Given the description of an element on the screen output the (x, y) to click on. 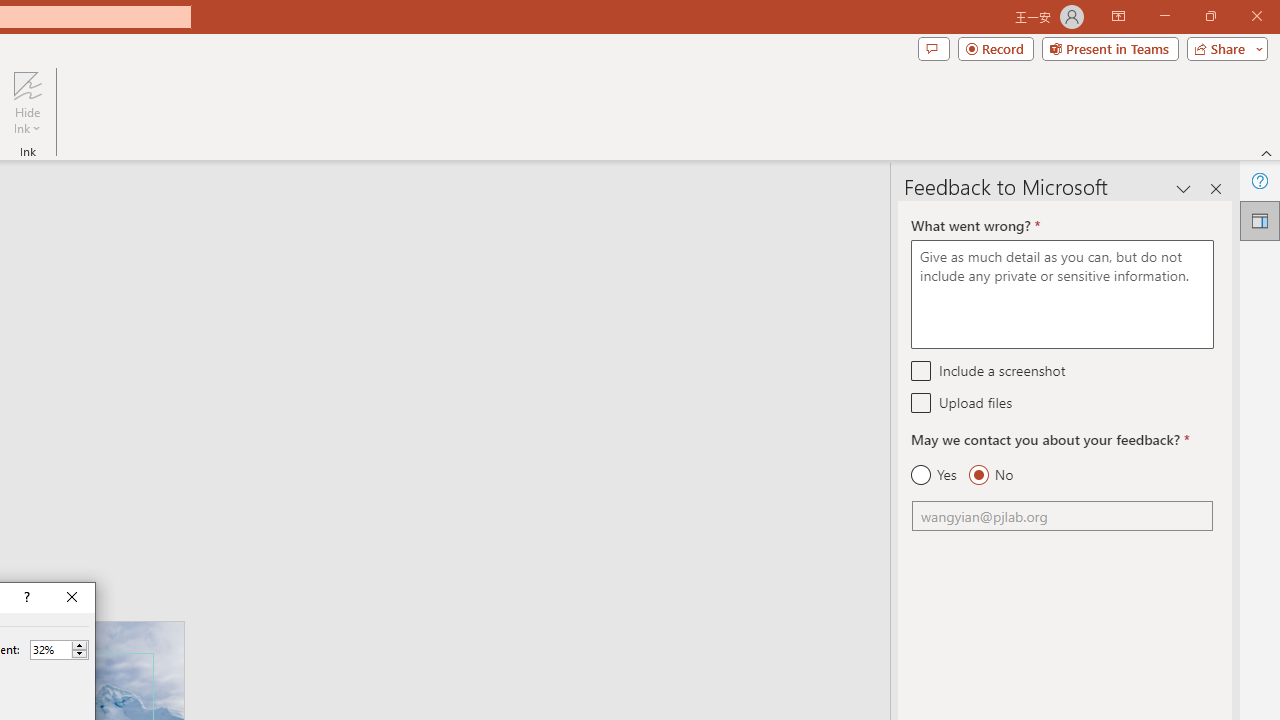
Context help (25, 597)
No (990, 475)
Include a screenshot (921, 370)
Less (79, 654)
Hide Ink (27, 84)
